Given the description of an element on the screen output the (x, y) to click on. 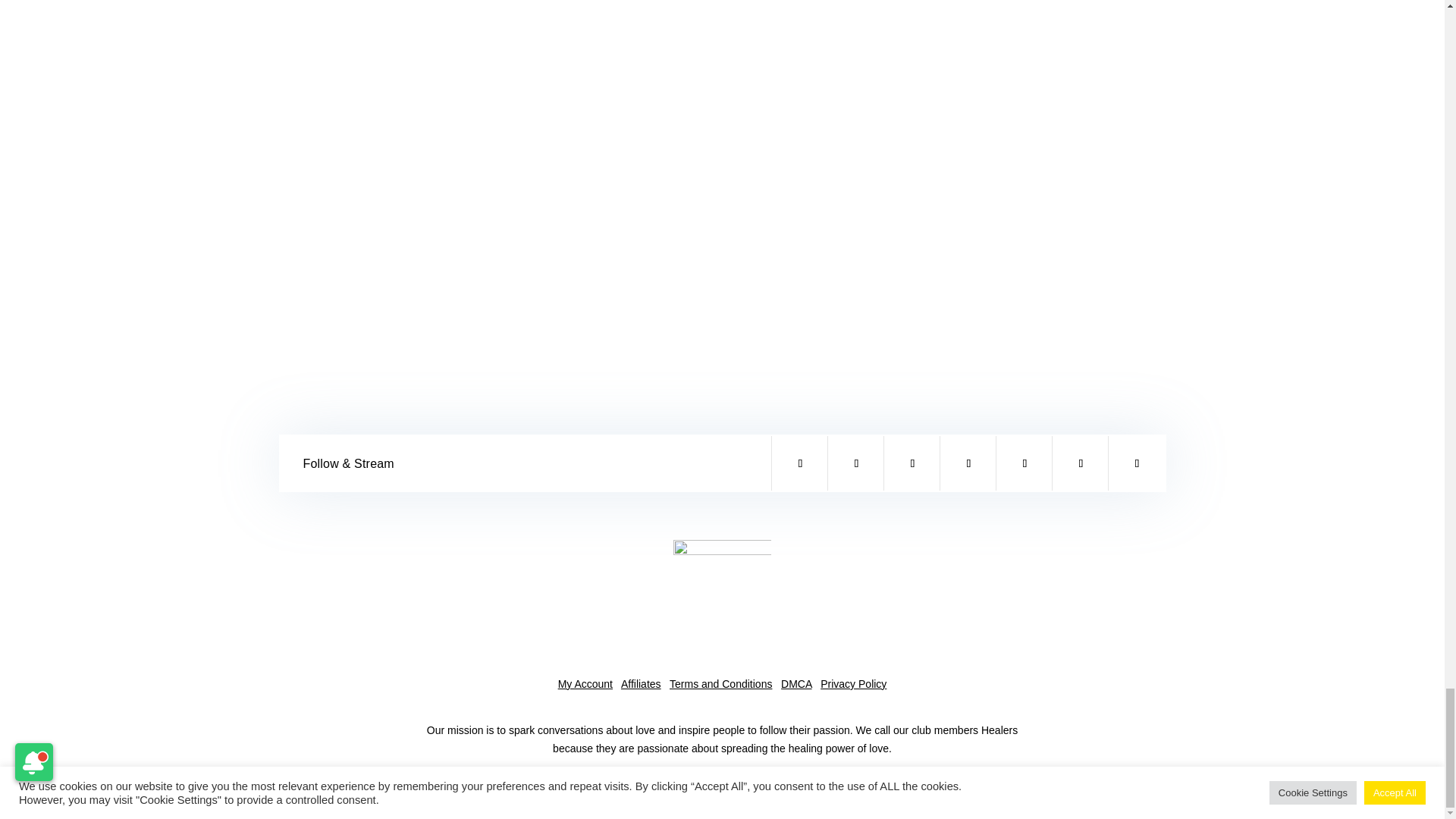
Follow on Instagram (855, 462)
Follow on X (911, 462)
Follow on Facebook (799, 462)
